Given the description of an element on the screen output the (x, y) to click on. 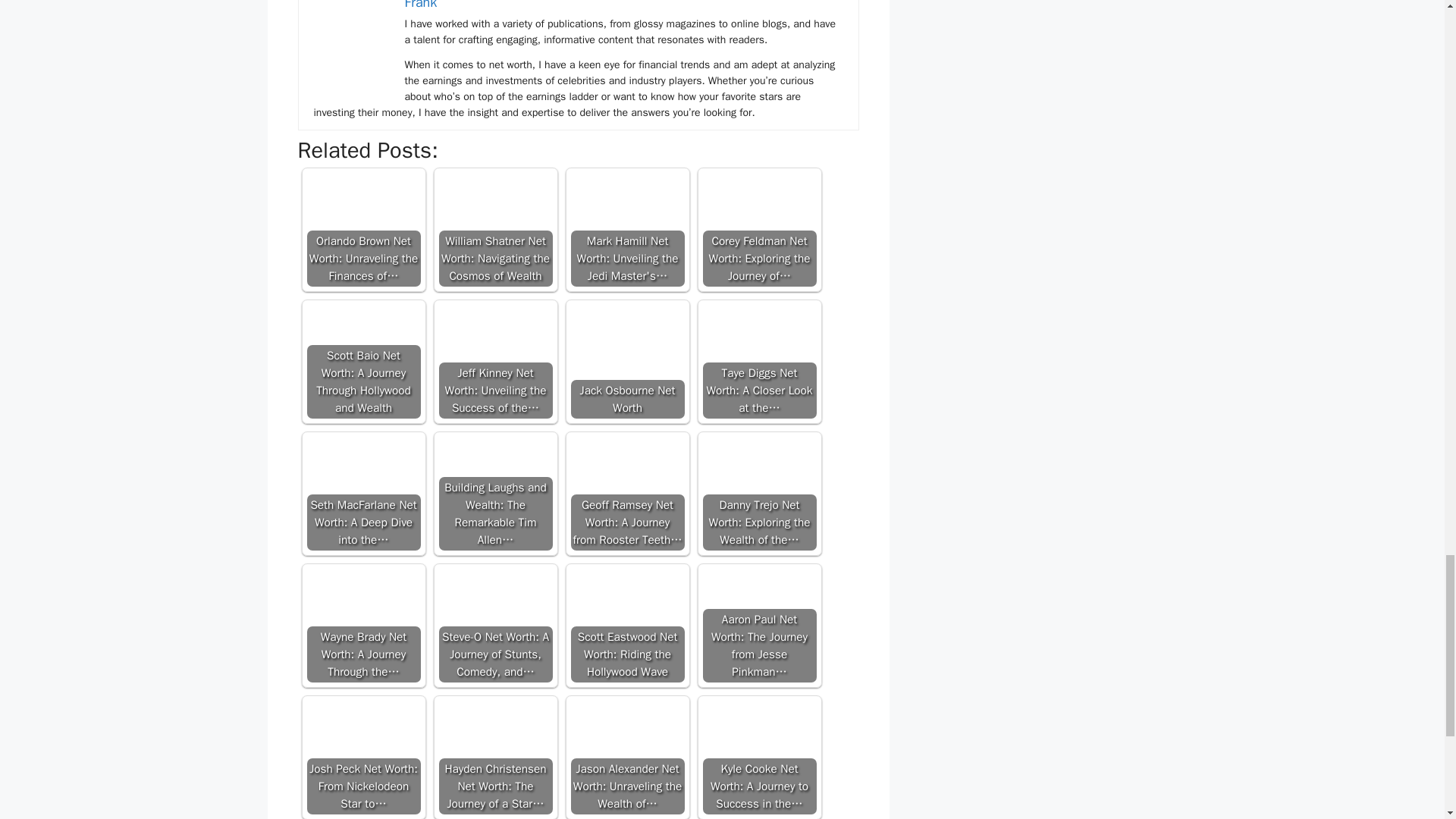
Jack Osbourne Net Worth (627, 347)
Scott Eastwood Net Worth: Riding the Hollywood Wave (627, 625)
William Shatner Net Worth: Navigating the Cosmos of Wealth (494, 201)
Scott Baio Net Worth: A Journey Through Hollywood and Wealth (362, 332)
Frank White (352, 34)
